Given the description of an element on the screen output the (x, y) to click on. 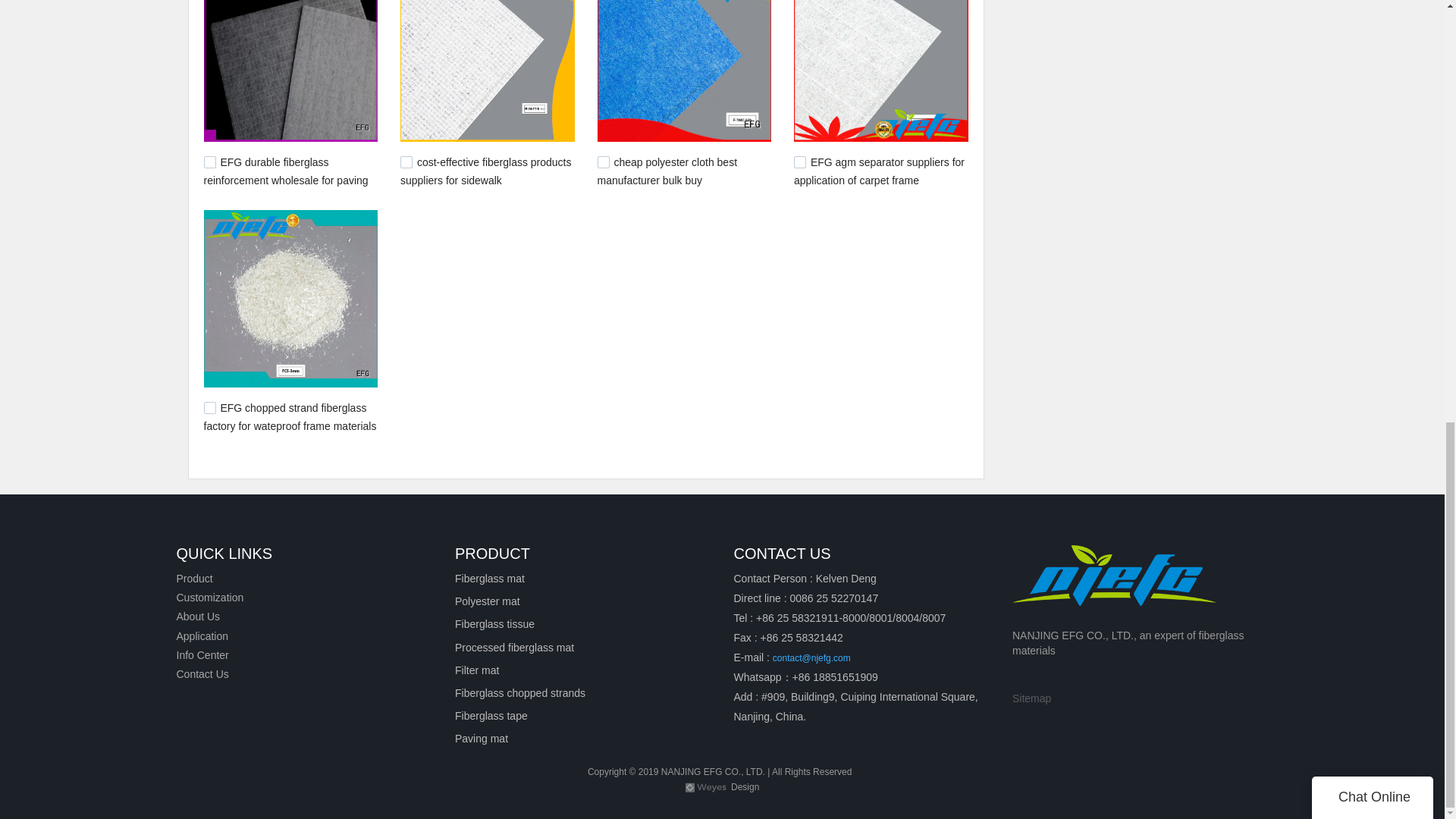
cheap polyester cloth best manufacturer bulk buy (667, 171)
EFG agm separator suppliers for application of carpet frame (878, 171)
830 (799, 162)
793 (209, 408)
839 (603, 162)
1534 (406, 162)
1538 (209, 162)
cost-effective fiberglass products suppliers for sidewalk (486, 171)
